Given the description of an element on the screen output the (x, y) to click on. 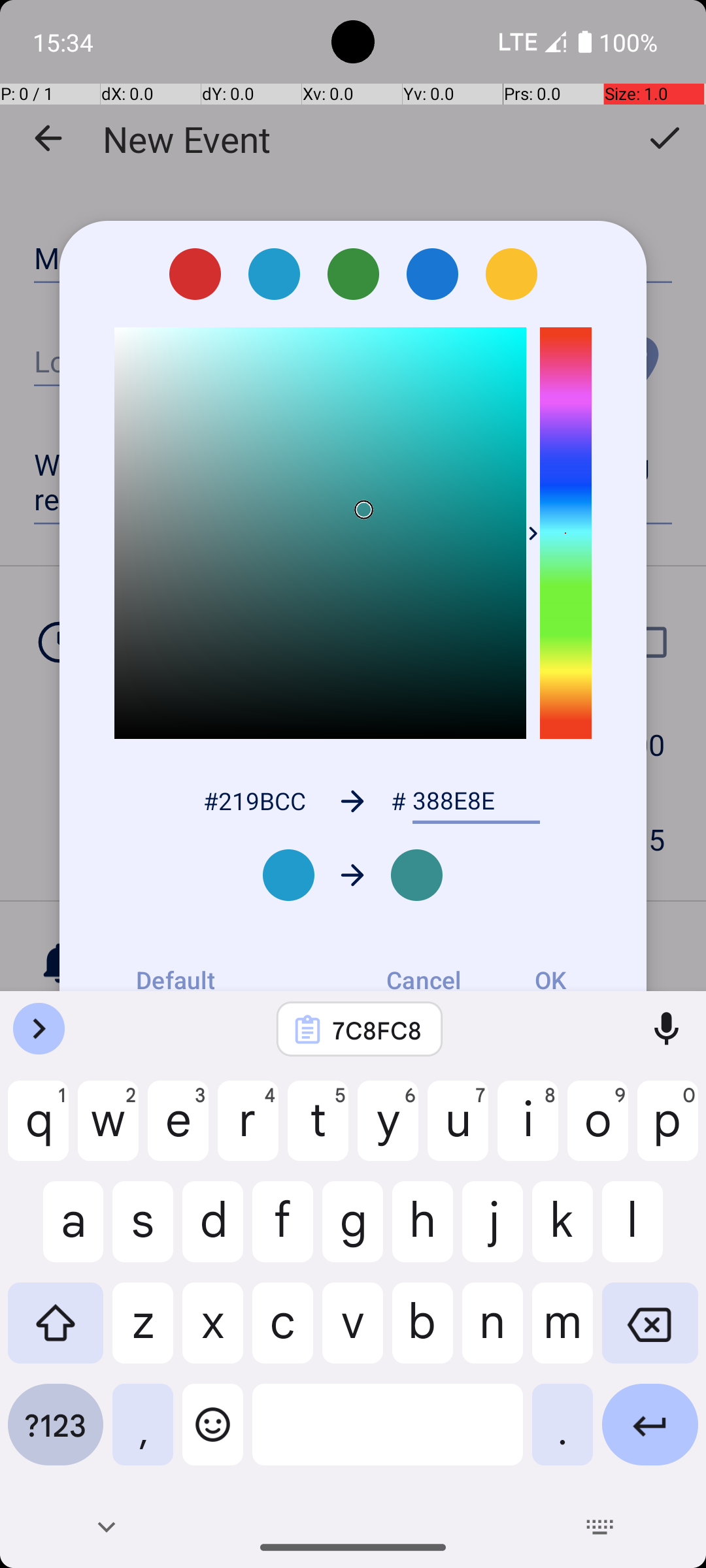
#219BCC Element type: android.widget.TextView (254, 800)
388E8E Element type: android.widget.EditText (475, 800)
Default Element type: android.widget.Button (174, 979)
7C8FC8 Element type: android.widget.TextView (376, 1029)
